Given the description of an element on the screen output the (x, y) to click on. 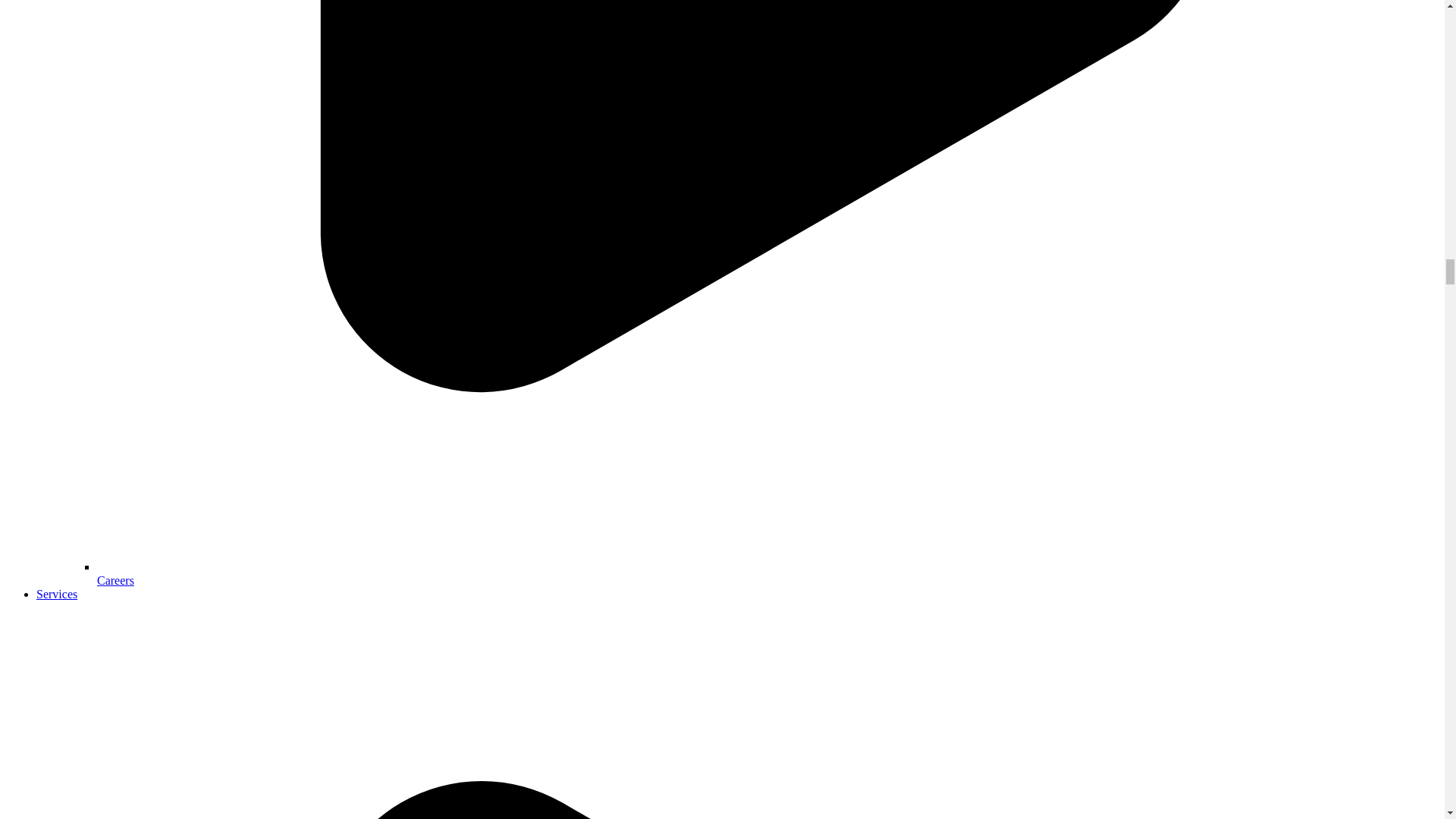
Services (56, 594)
